Given the description of an element on the screen output the (x, y) to click on. 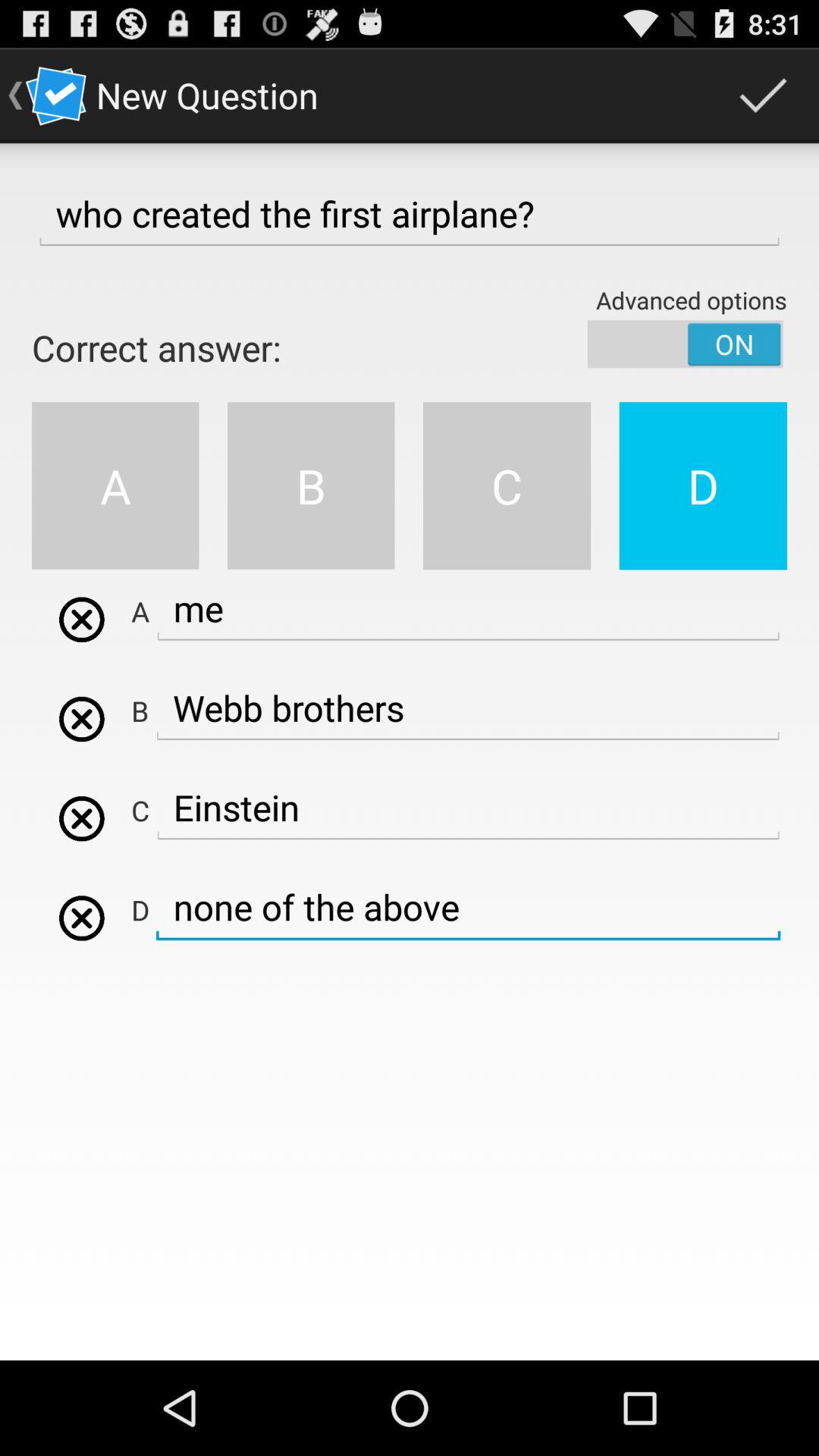
toggle advanced options (685, 343)
